Given the description of an element on the screen output the (x, y) to click on. 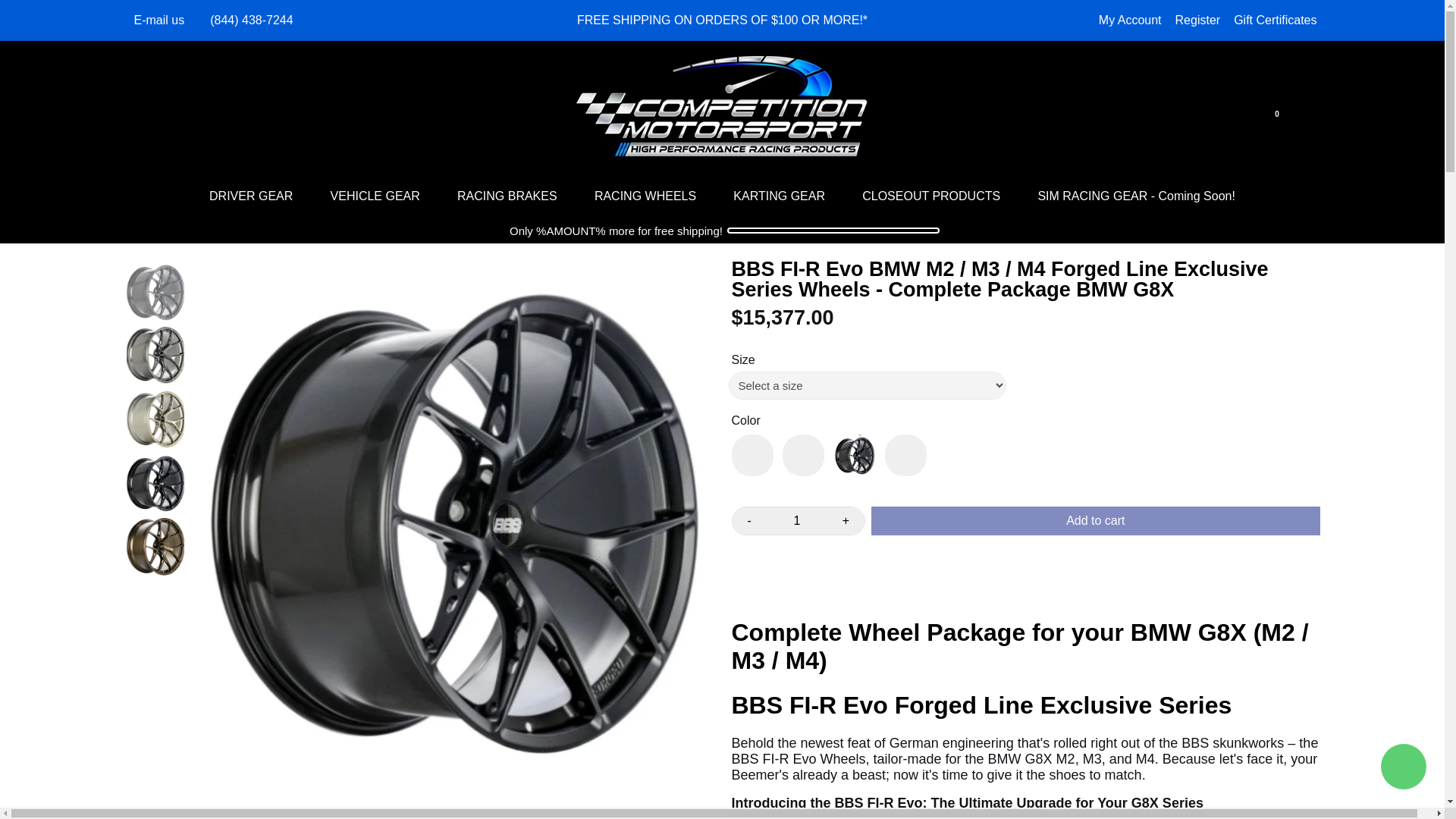
E-mail us (158, 20)
Gift Certificates (1274, 20)
DRIVER GEAR (250, 196)
Register (1197, 20)
My Account (1130, 20)
1 (797, 520)
